Given the description of an element on the screen output the (x, y) to click on. 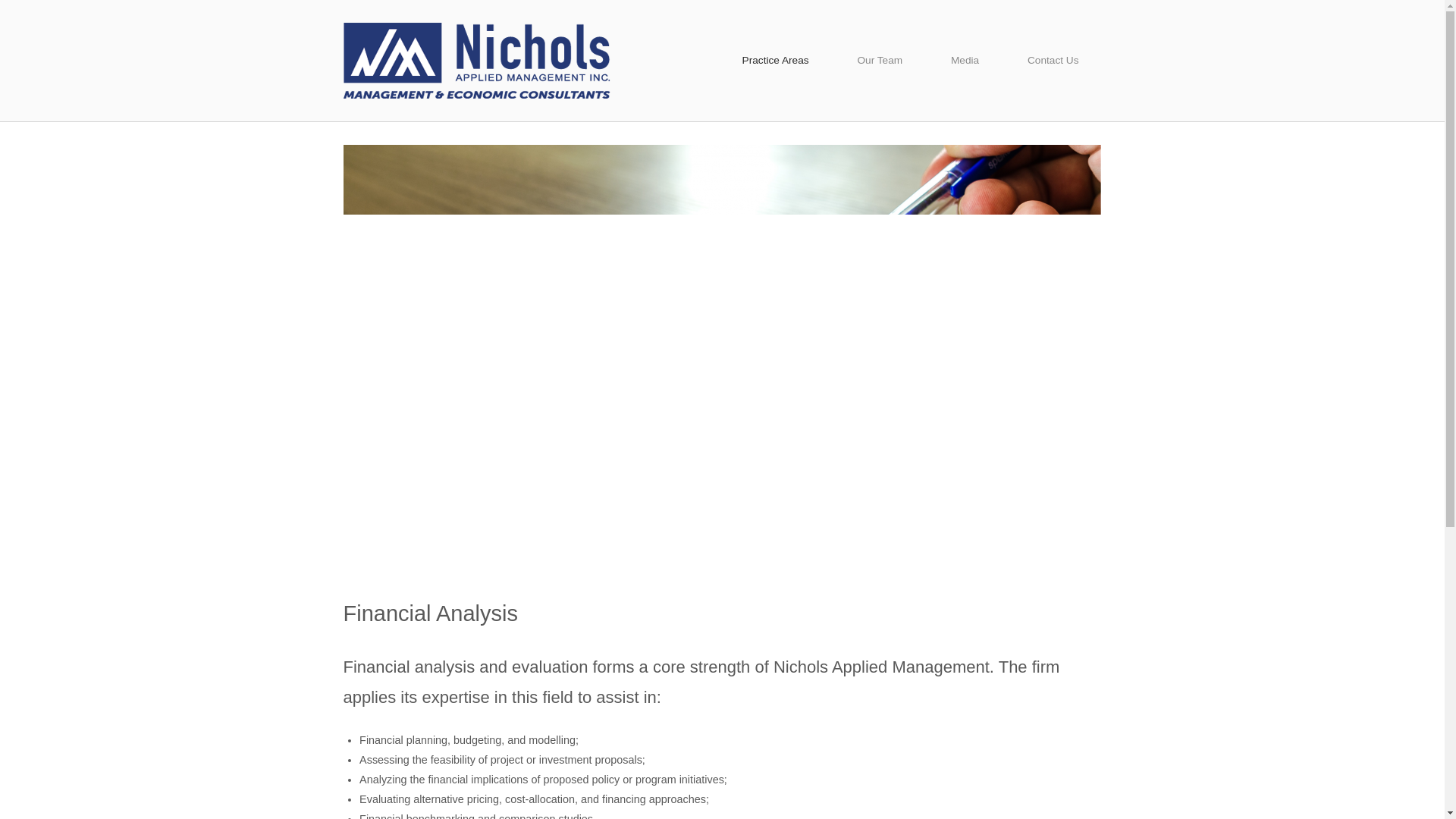
Practice Areas (775, 60)
Contact Us (1053, 60)
Media (964, 60)
Home (476, 60)
Our Team (879, 60)
